Given the description of an element on the screen output the (x, y) to click on. 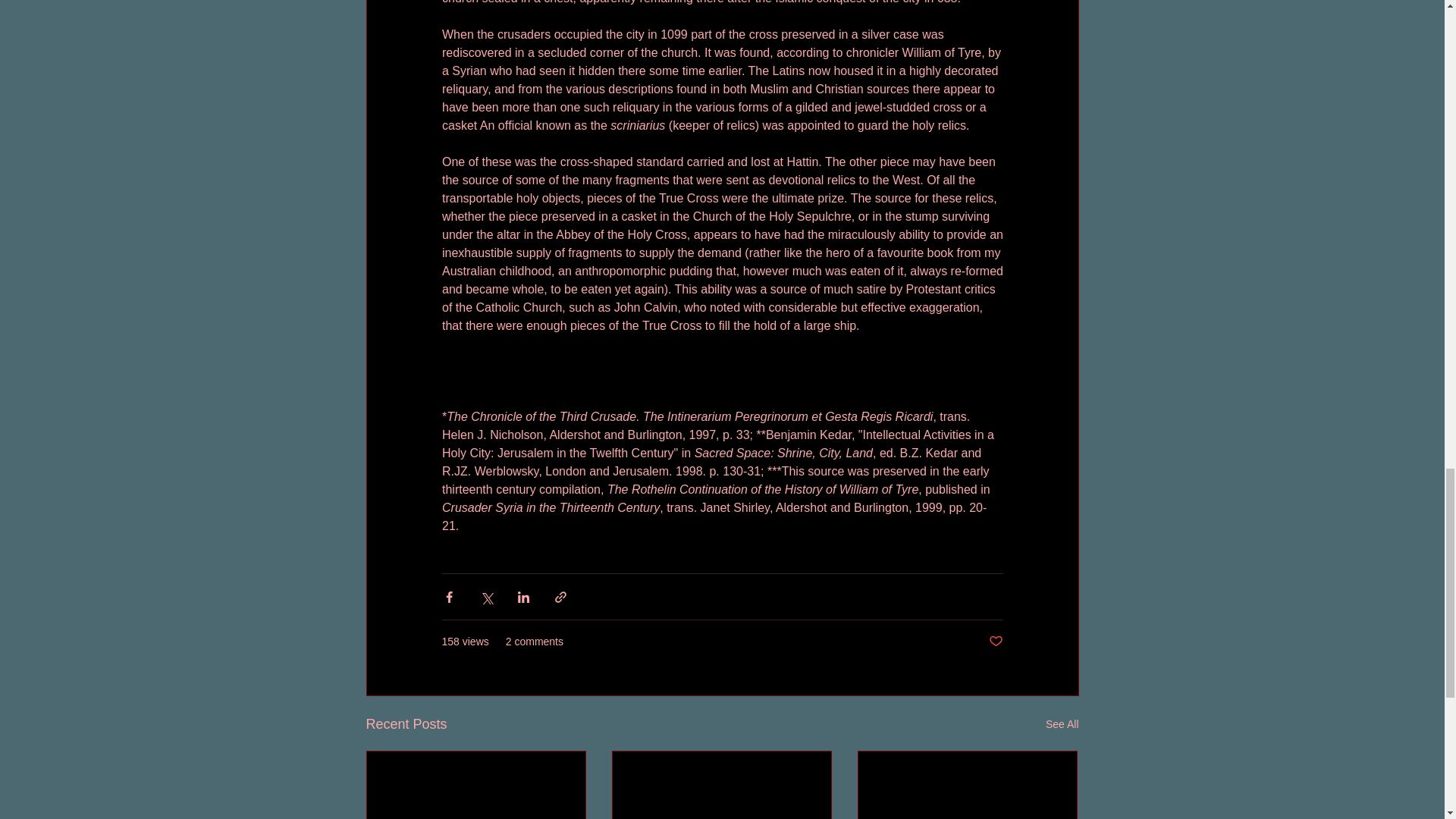
See All (1061, 724)
Post not marked as liked (995, 641)
